Given the description of an element on the screen output the (x, y) to click on. 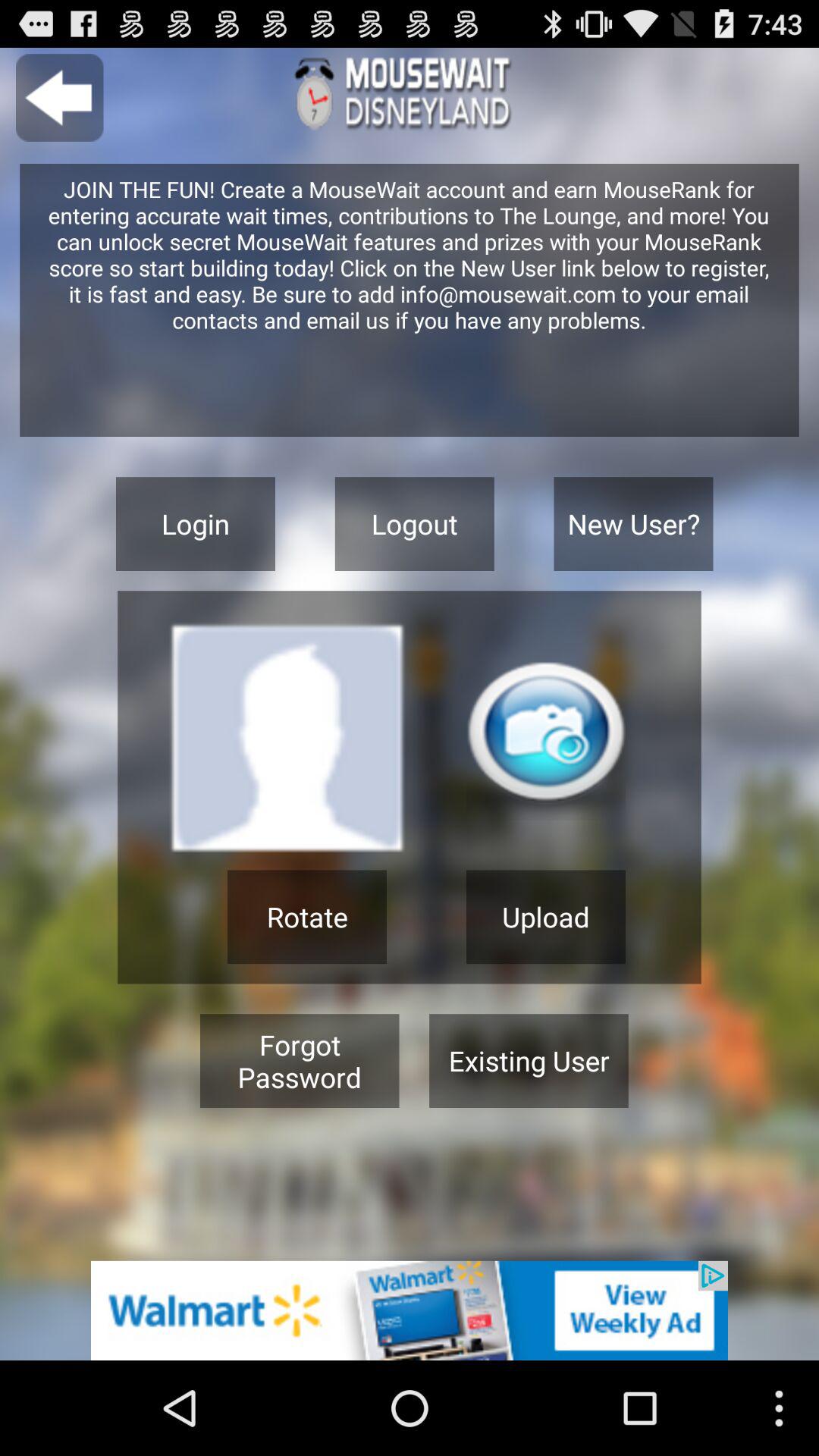
click the back button (59, 97)
